Given the description of an element on the screen output the (x, y) to click on. 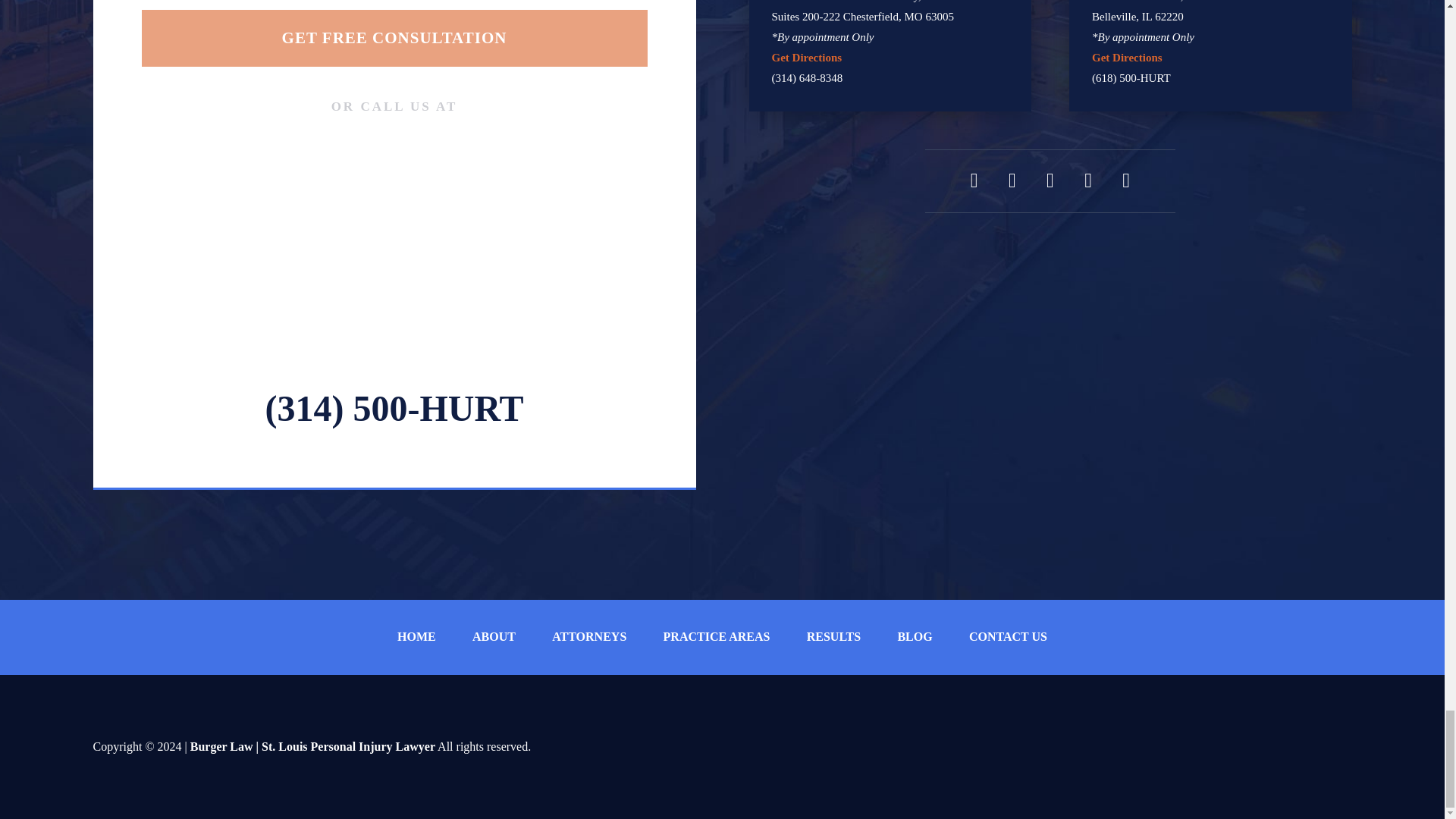
Get Free Consultation (393, 37)
